Given the description of an element on the screen output the (x, y) to click on. 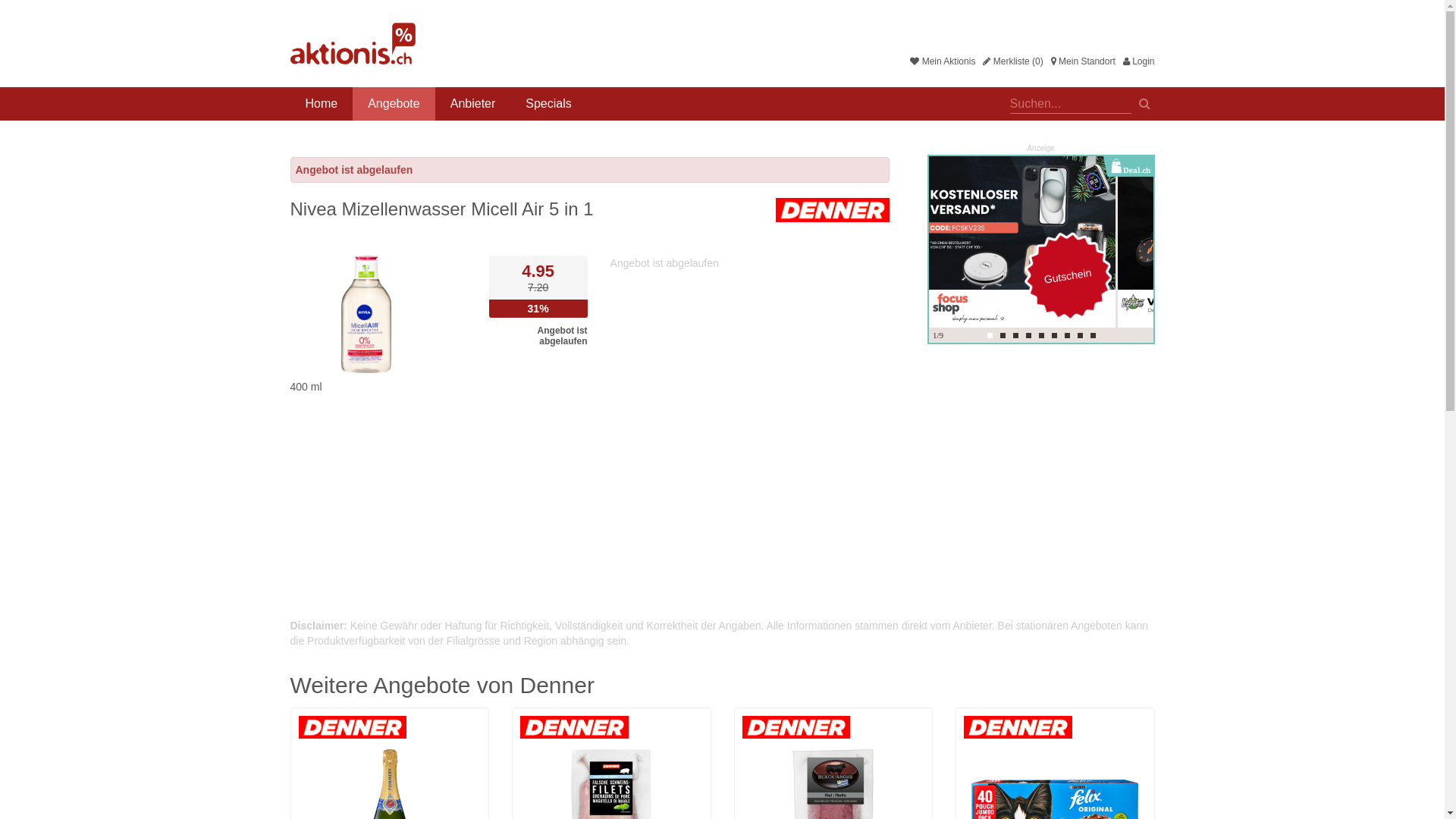
Merkliste (0) Element type: text (1012, 61)
3rd party ad content Element type: hover (1040, 249)
Angebote Element type: text (393, 103)
Home Element type: text (320, 103)
Anbieter Element type: text (473, 103)
Login Element type: text (1138, 61)
Mein Standort Element type: text (1083, 61)
Mein Aktionis Element type: text (942, 61)
Specials Element type: text (548, 103)
Suchen Element type: text (1144, 102)
